Given the description of an element on the screen output the (x, y) to click on. 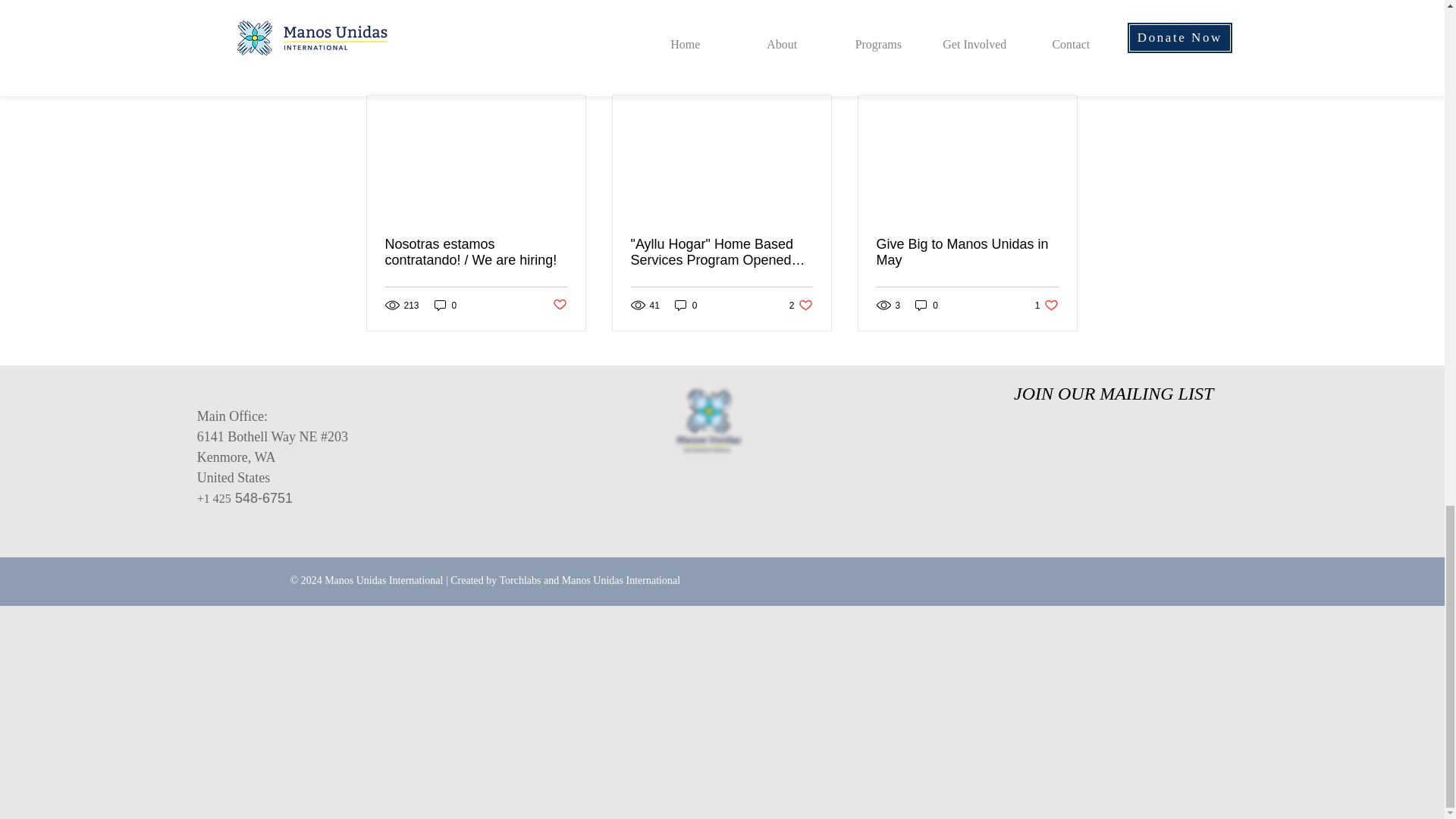
Give Big to Manos Unidas in May (967, 252)
0 (1046, 305)
Post not marked as liked (685, 305)
0 (558, 304)
See All (926, 305)
0 (800, 305)
